Given the description of an element on the screen output the (x, y) to click on. 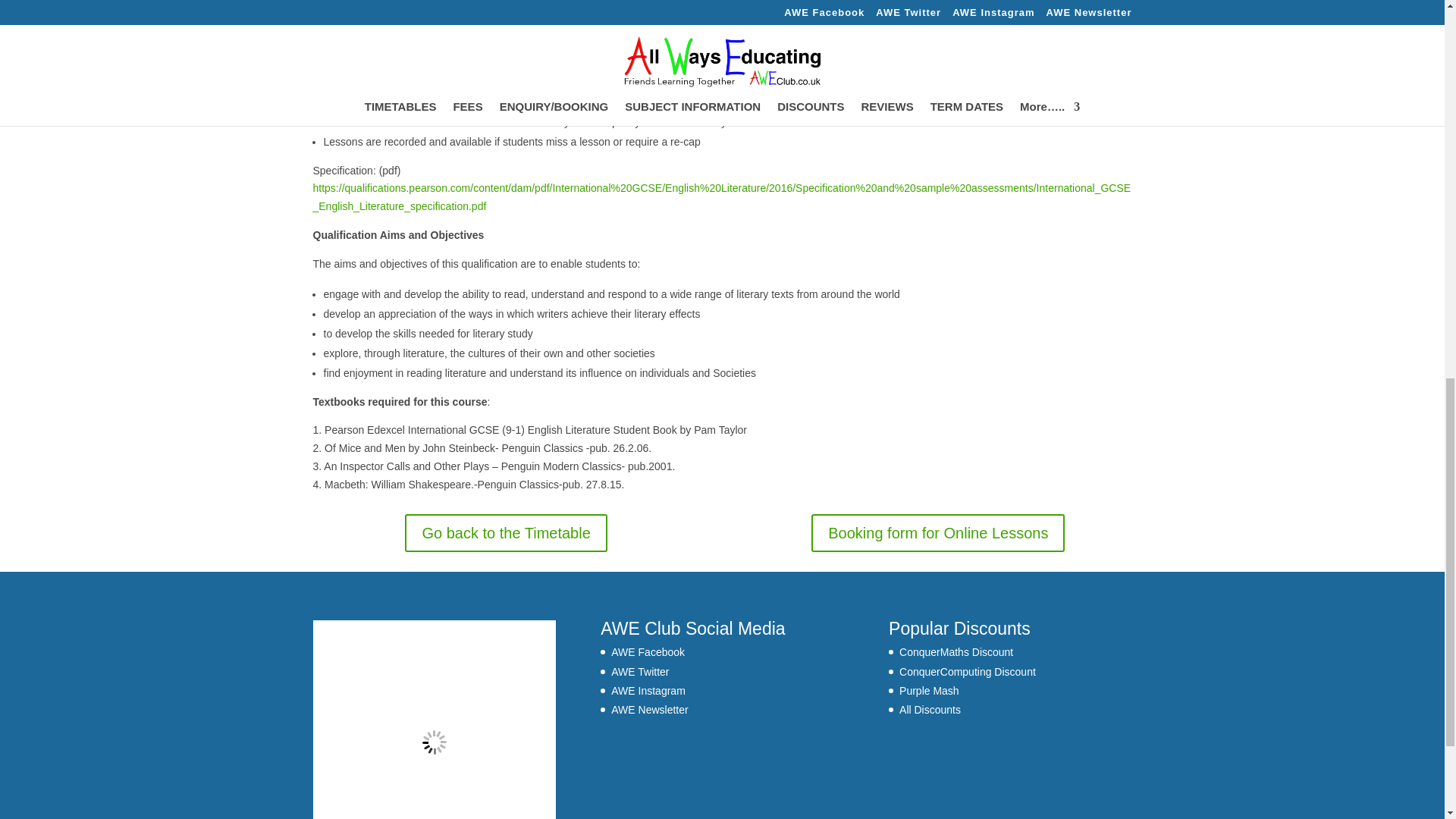
Booking form for Online Lessons (937, 533)
AWE Newsletter (649, 709)
ConquerMaths Discount (956, 652)
All Discounts (929, 709)
AWE Twitter (639, 671)
ConquerComputing Discount (967, 671)
AWE Facebook (647, 652)
Purple Mash (929, 690)
Go back to the Timetable (505, 533)
AWE Instagram (648, 690)
